Given the description of an element on the screen output the (x, y) to click on. 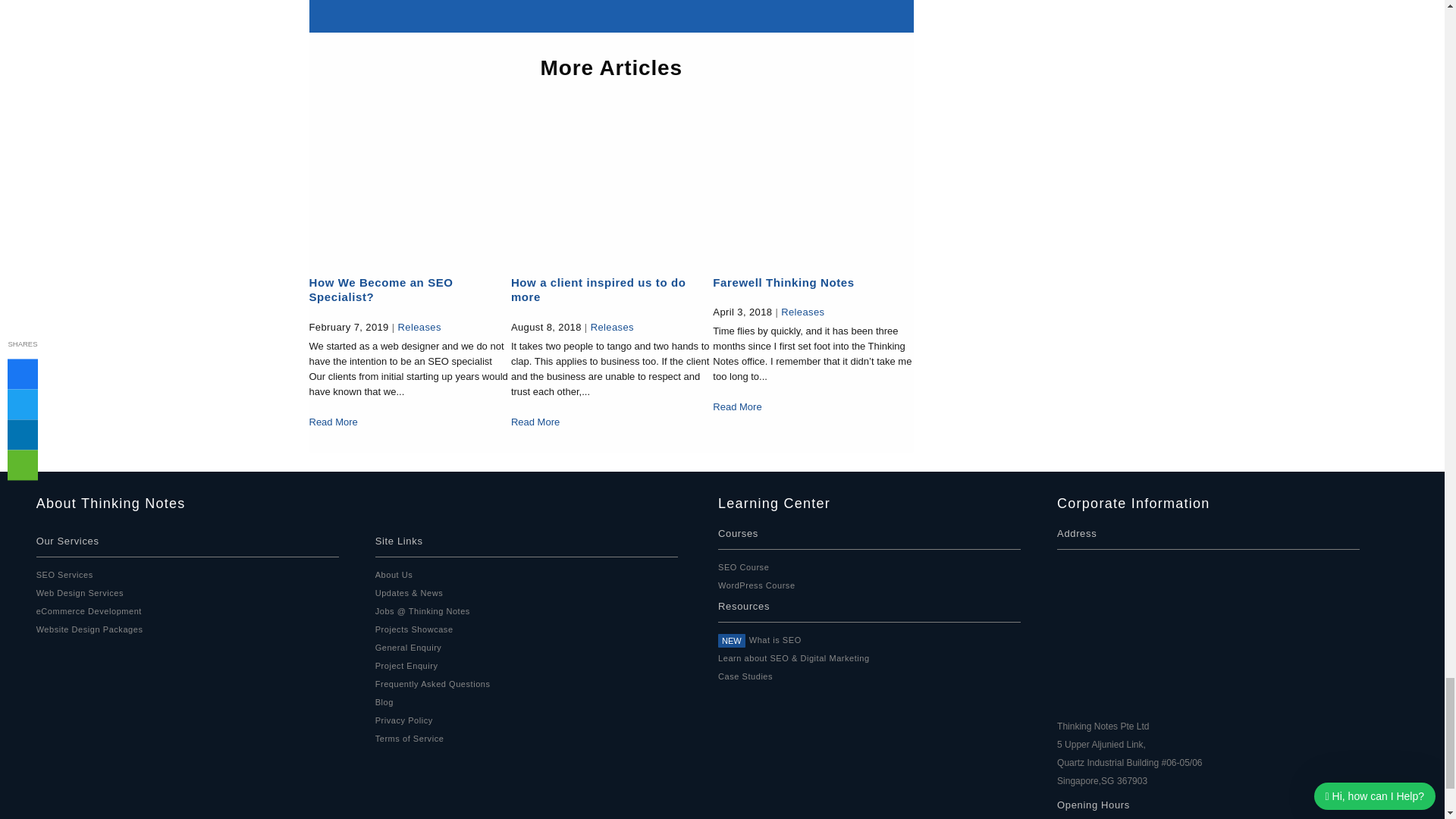
Thursday, February 7, 2019, 3:27 pm (348, 326)
How a client inspired us to do more 11 (610, 183)
How We Become an SEO Specialist? 8 (408, 183)
Wednesday, August 8, 2018, 7:43 am (545, 326)
Farewell Thinking Notes 14 (812, 183)
